Given the description of an element on the screen output the (x, y) to click on. 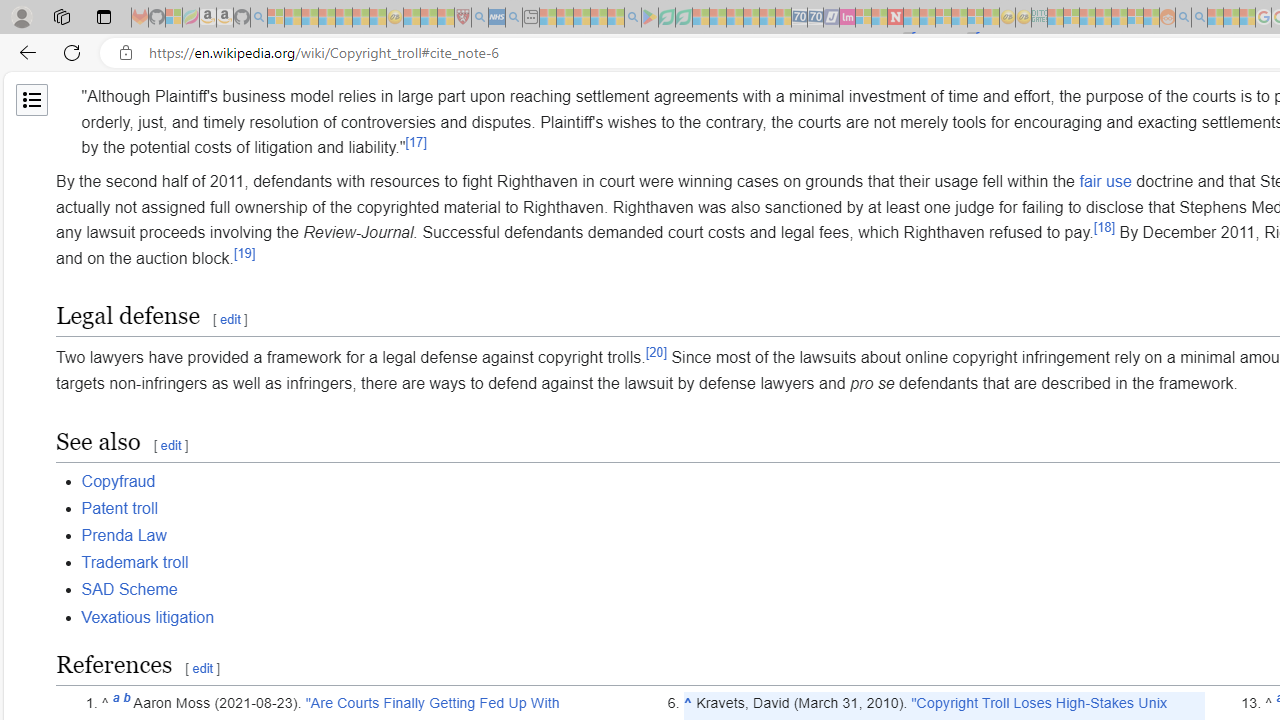
list of asthma inhalers uk - Search - Sleeping (479, 17)
Recipes - MSN - Sleeping (411, 17)
edit (202, 668)
Prenda Law (123, 536)
Jump up to: a (116, 703)
14 Common Myths Debunked By Scientific Facts - Sleeping (927, 17)
Cheap Car Rentals - Save70.com - Sleeping (799, 17)
Copyfraud (118, 481)
Microsoft Start - Sleeping (1215, 17)
